Given the description of an element on the screen output the (x, y) to click on. 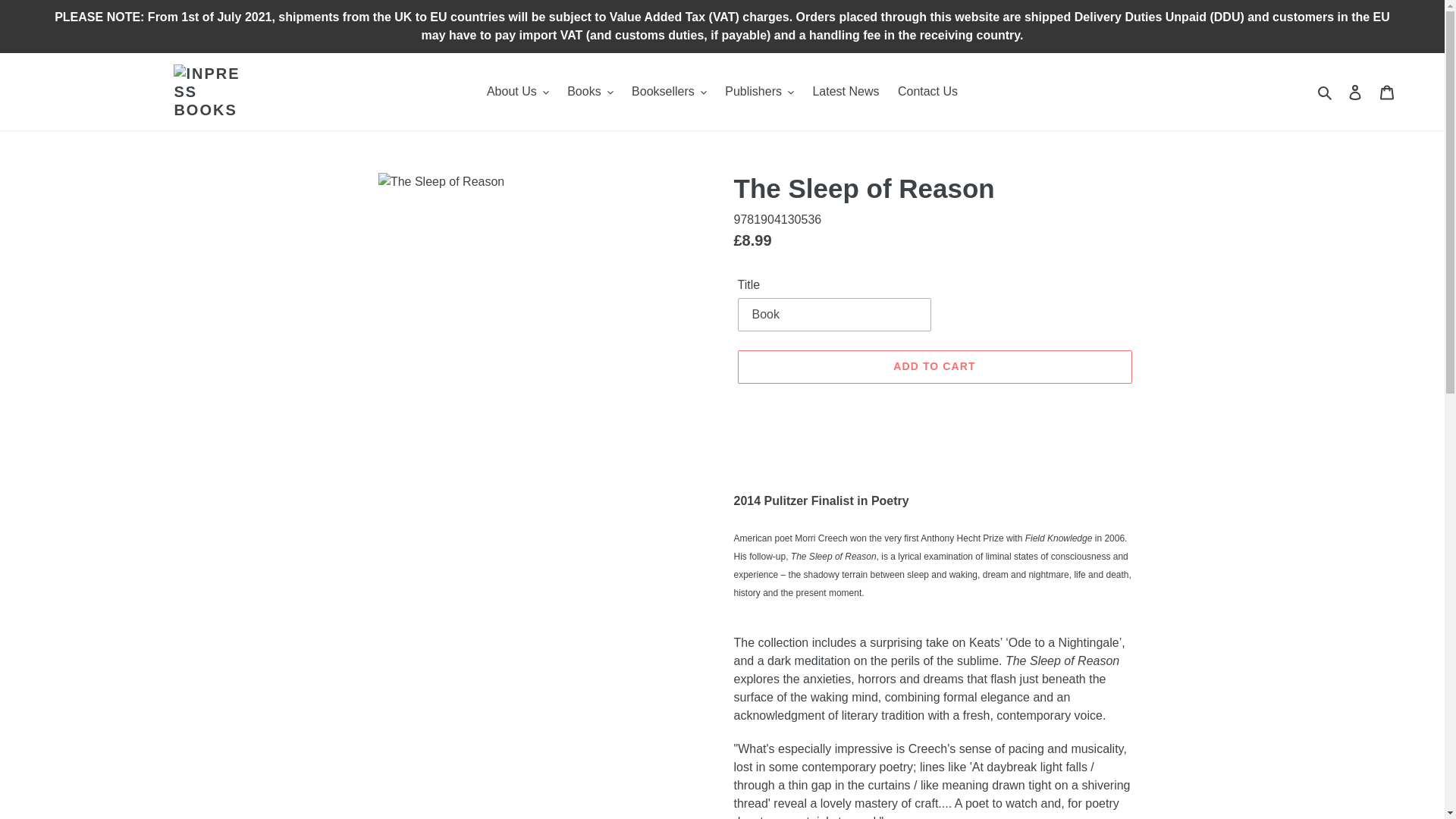
Books (589, 91)
Publishers (759, 91)
About Us (517, 91)
Latest News (845, 91)
Booksellers (669, 91)
